Given the description of an element on the screen output the (x, y) to click on. 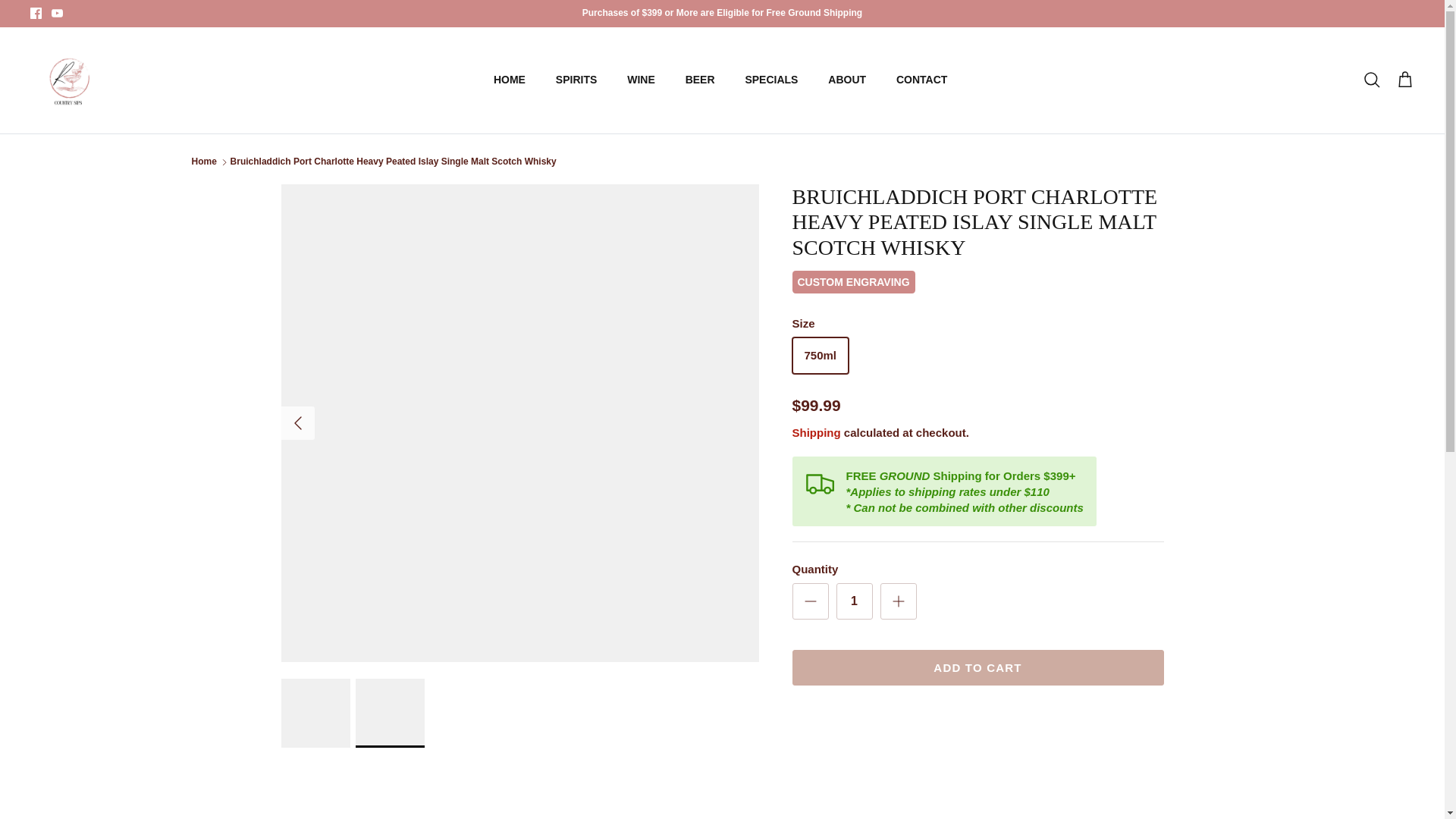
SPECIALS (770, 79)
HOME (509, 79)
LEFT (296, 422)
Minus (809, 601)
COUNTRY SIPS (68, 79)
WINE (640, 79)
Youtube (56, 12)
Plus (897, 601)
BEER (700, 79)
Cart (1404, 80)
1 (853, 601)
SPIRITS (575, 79)
CONTACT (921, 79)
Youtube (56, 12)
Search (1371, 80)
